Given the description of an element on the screen output the (x, y) to click on. 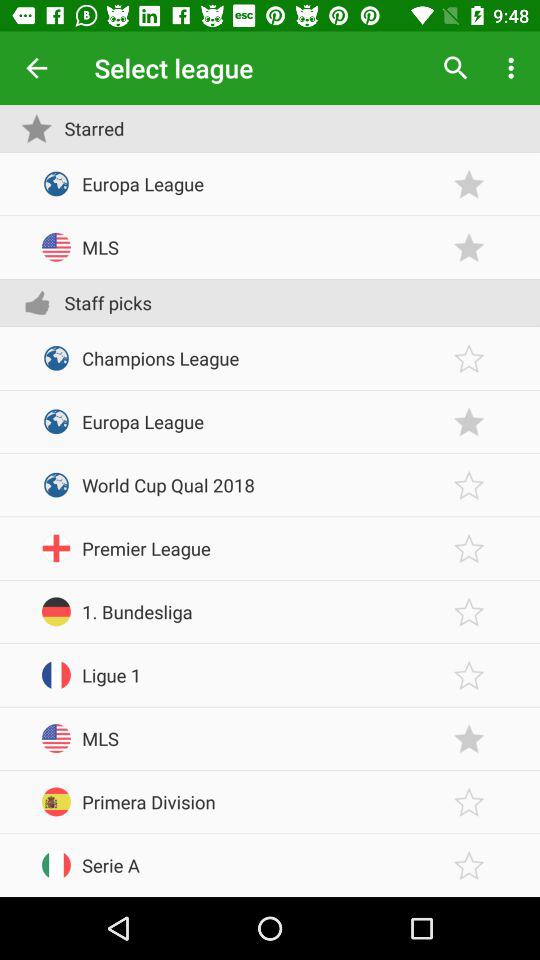
toggle star for world cup qual 2018 (469, 484)
